Given the description of an element on the screen output the (x, y) to click on. 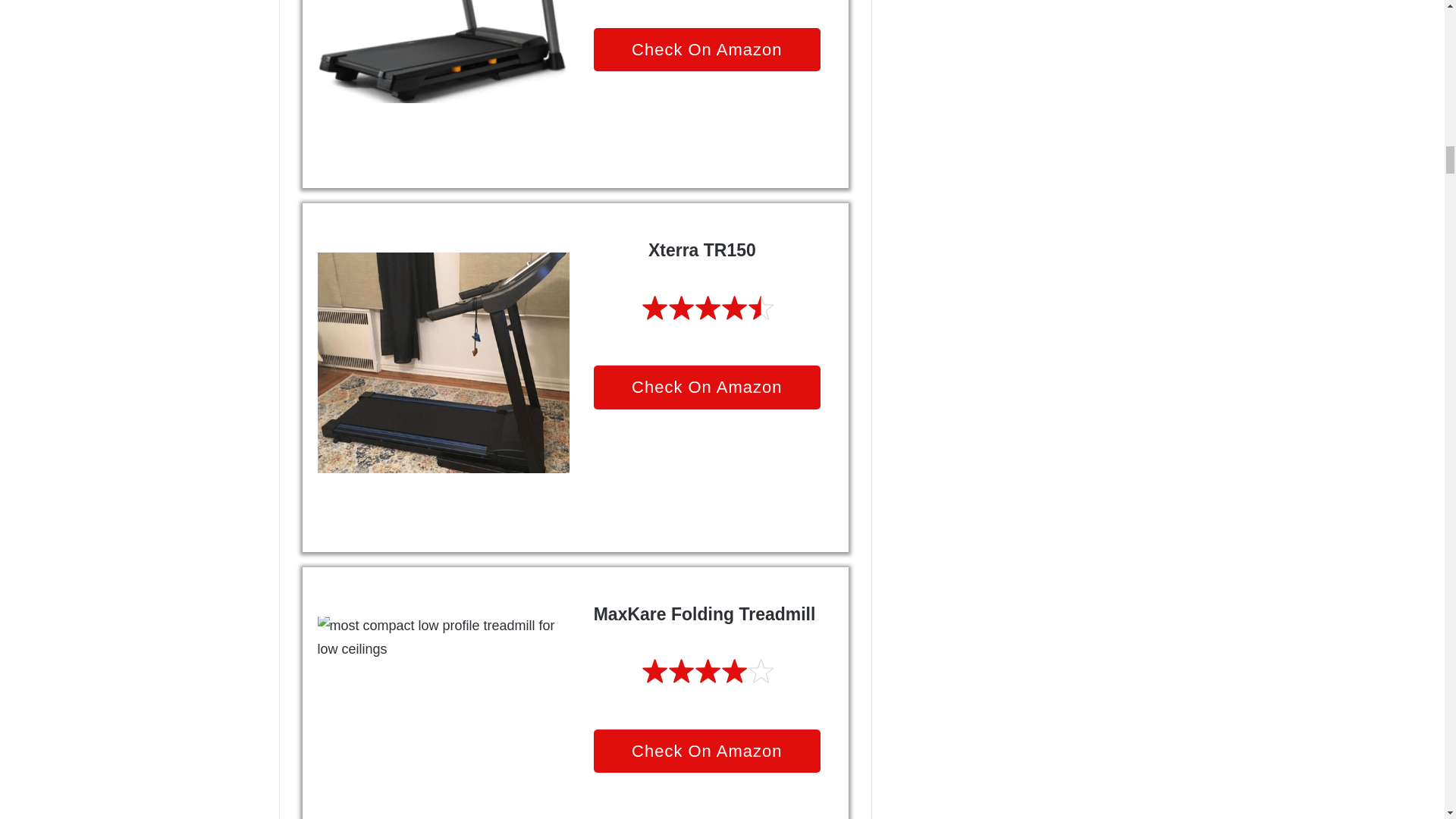
Check On Amazon (707, 387)
our cheapest low profile treadmill (443, 361)
Check On Amazon (707, 49)
most compact low profile treadmill for low ceilings (443, 709)
Check On Amazon (707, 751)
best value low profile treadmill (443, 51)
